Given the description of an element on the screen output the (x, y) to click on. 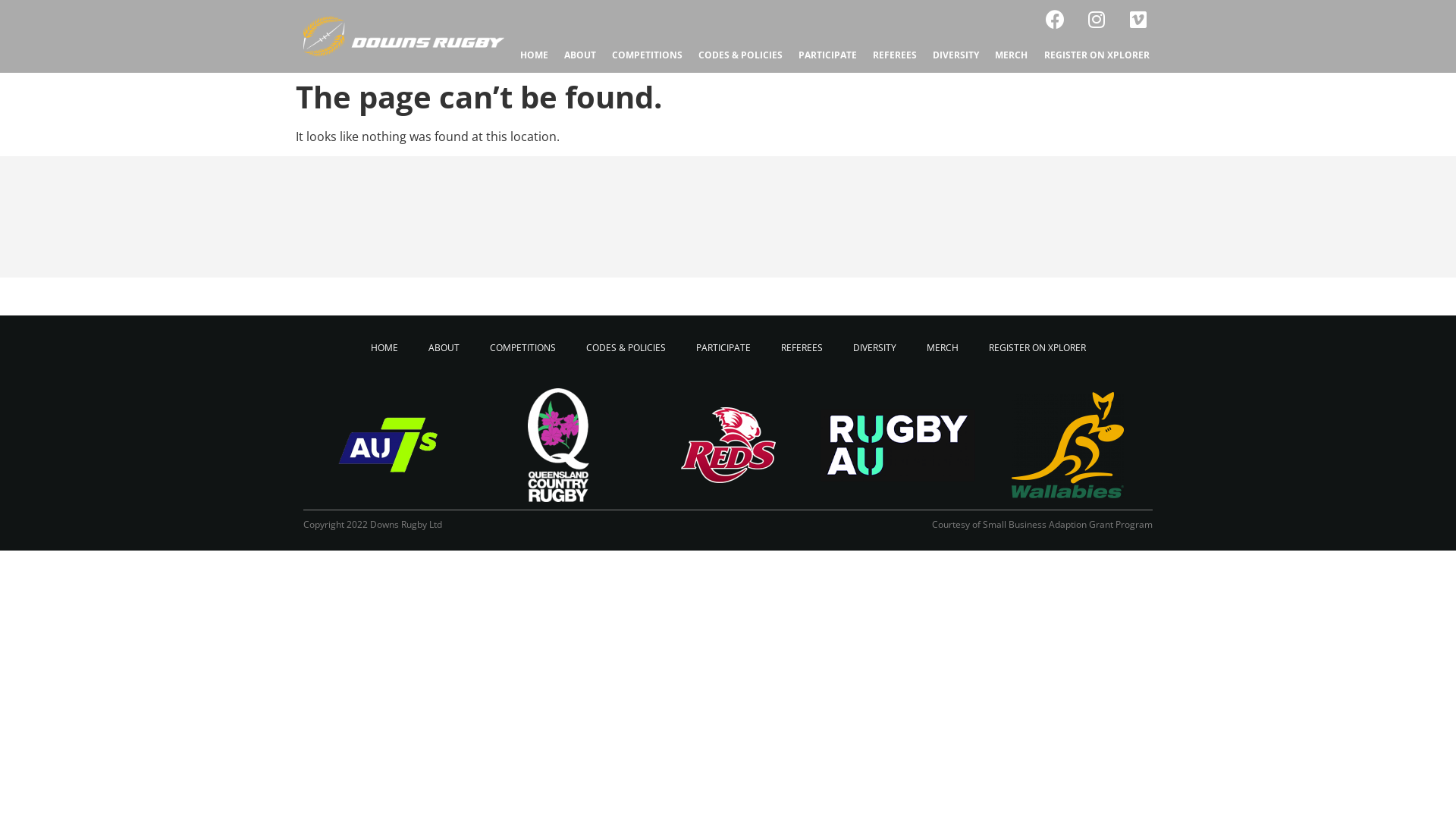
ABOUT Element type: text (442, 347)
CODES & POLICIES Element type: text (740, 54)
Courtesy of Small Business Adaption Grant Program Element type: text (1041, 523)
REGISTER ON XPLORER Element type: text (1096, 54)
reds-logo Element type: hover (727, 445)
PARTICIPATE Element type: text (722, 347)
MERCH Element type: text (942, 347)
REFEREES Element type: text (801, 347)
qld-country-rugby Element type: hover (558, 445)
HOME Element type: text (533, 54)
CODES & POLICIES Element type: text (625, 347)
DIVERSITY Element type: text (956, 54)
REGISTER ON XPLORER Element type: text (1037, 347)
COMPETITIONS Element type: text (522, 347)
Wallabies 2021 Element type: hover (1067, 445)
ABOUT Element type: text (579, 54)
HOME Element type: text (383, 347)
COMPETITIONS Element type: text (646, 54)
REFEREES Element type: text (895, 54)
PARTICIPATE Element type: text (827, 54)
Australia_7s Element type: hover (388, 444)
MERCH Element type: text (1011, 54)
DIVERSITY Element type: text (873, 347)
